Given the description of an element on the screen output the (x, y) to click on. 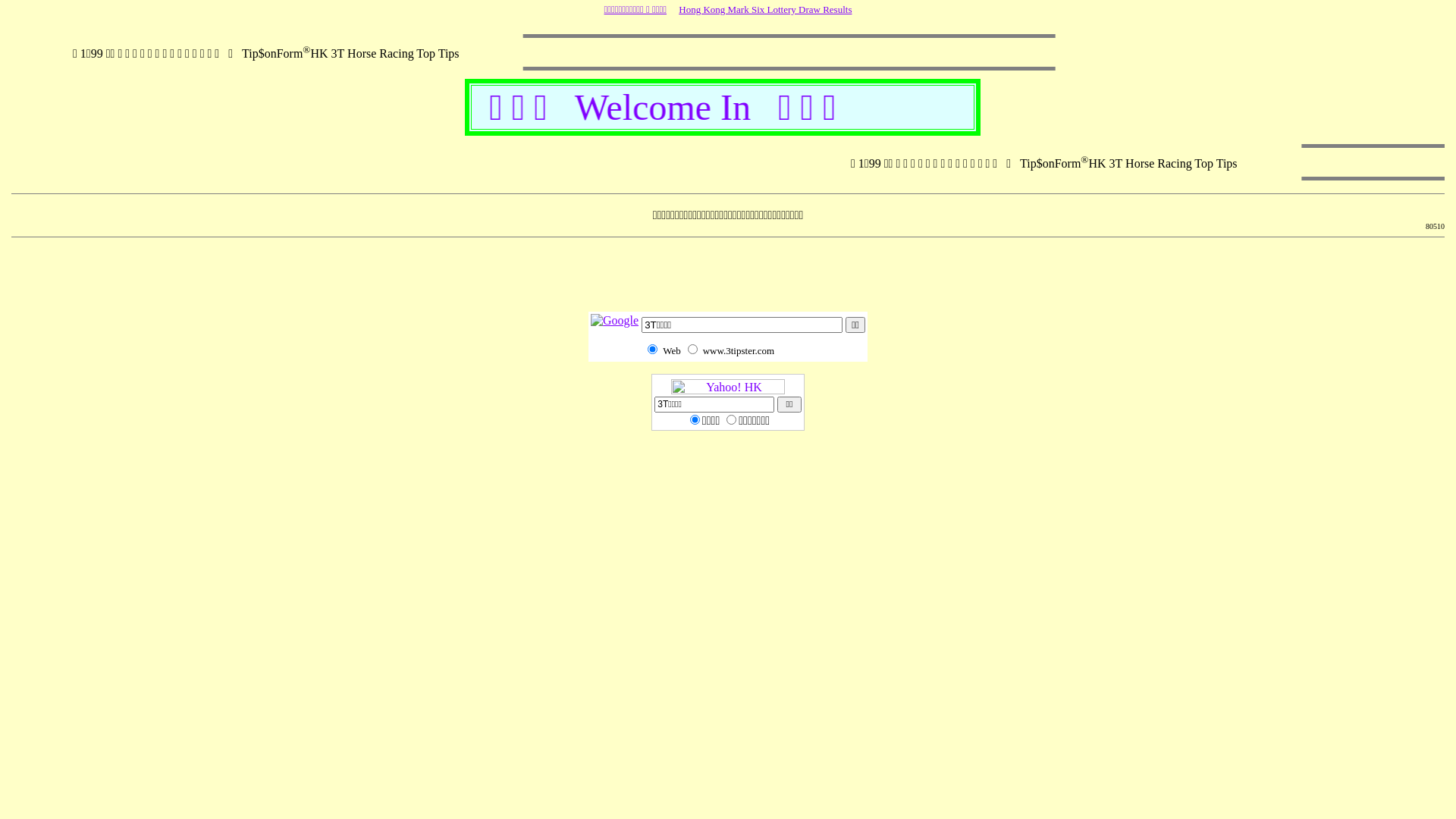
Hong Kong Mark Six Lottery Draw Results Element type: text (764, 9)
Advertisement Element type: hover (727, 277)
